Given the description of an element on the screen output the (x, y) to click on. 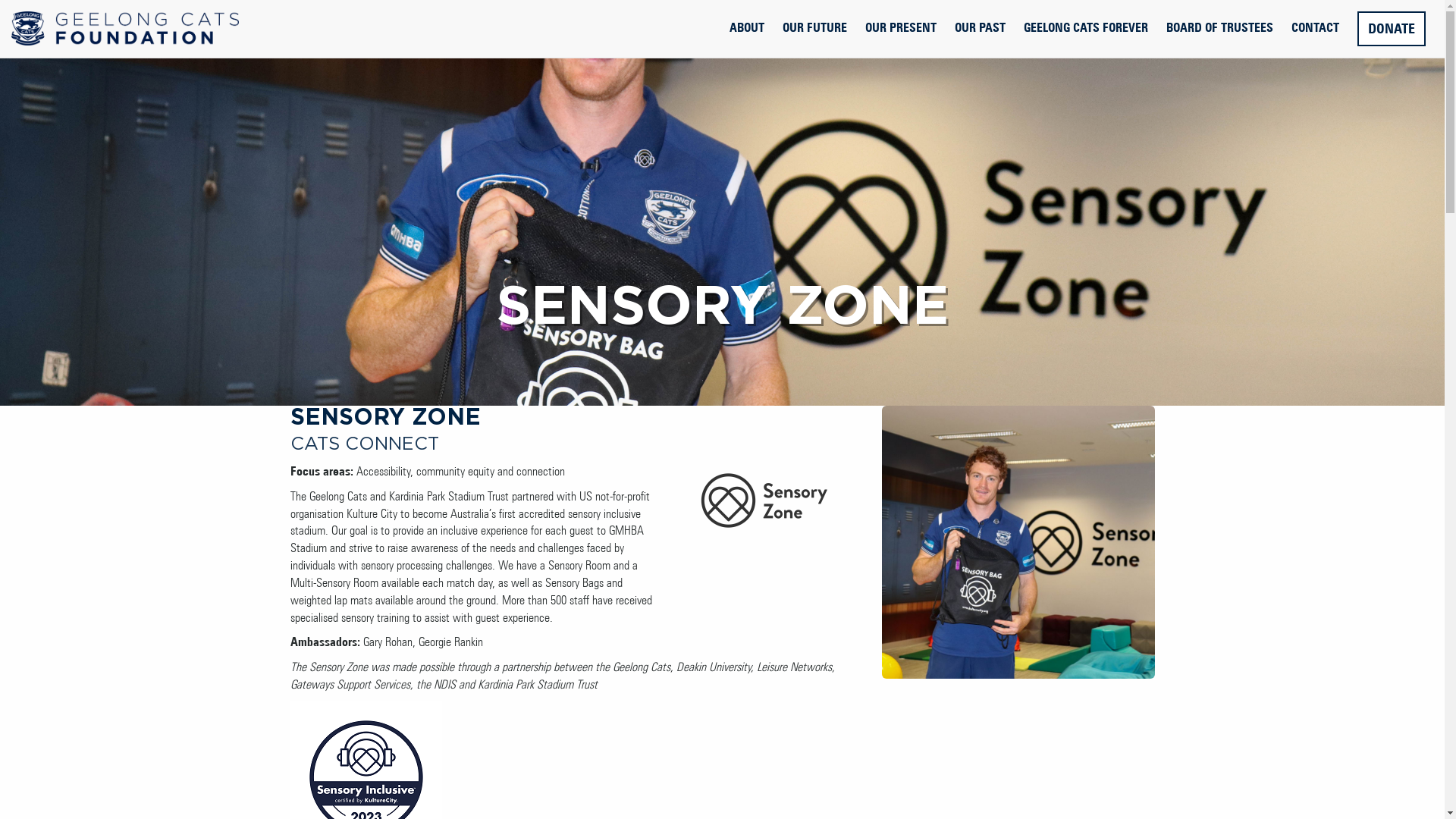
OUR PRESENT Element type: text (900, 27)
CONTACT Element type: text (1315, 27)
OUR FUTURE Element type: text (814, 27)
DONATE Element type: text (1391, 28)
OUR PAST Element type: text (979, 27)
GEELONG CATS FOREVER Element type: text (1085, 27)
ABOUT Element type: text (746, 27)
BOARD OF TRUSTEES Element type: text (1219, 27)
